Given the description of an element on the screen output the (x, y) to click on. 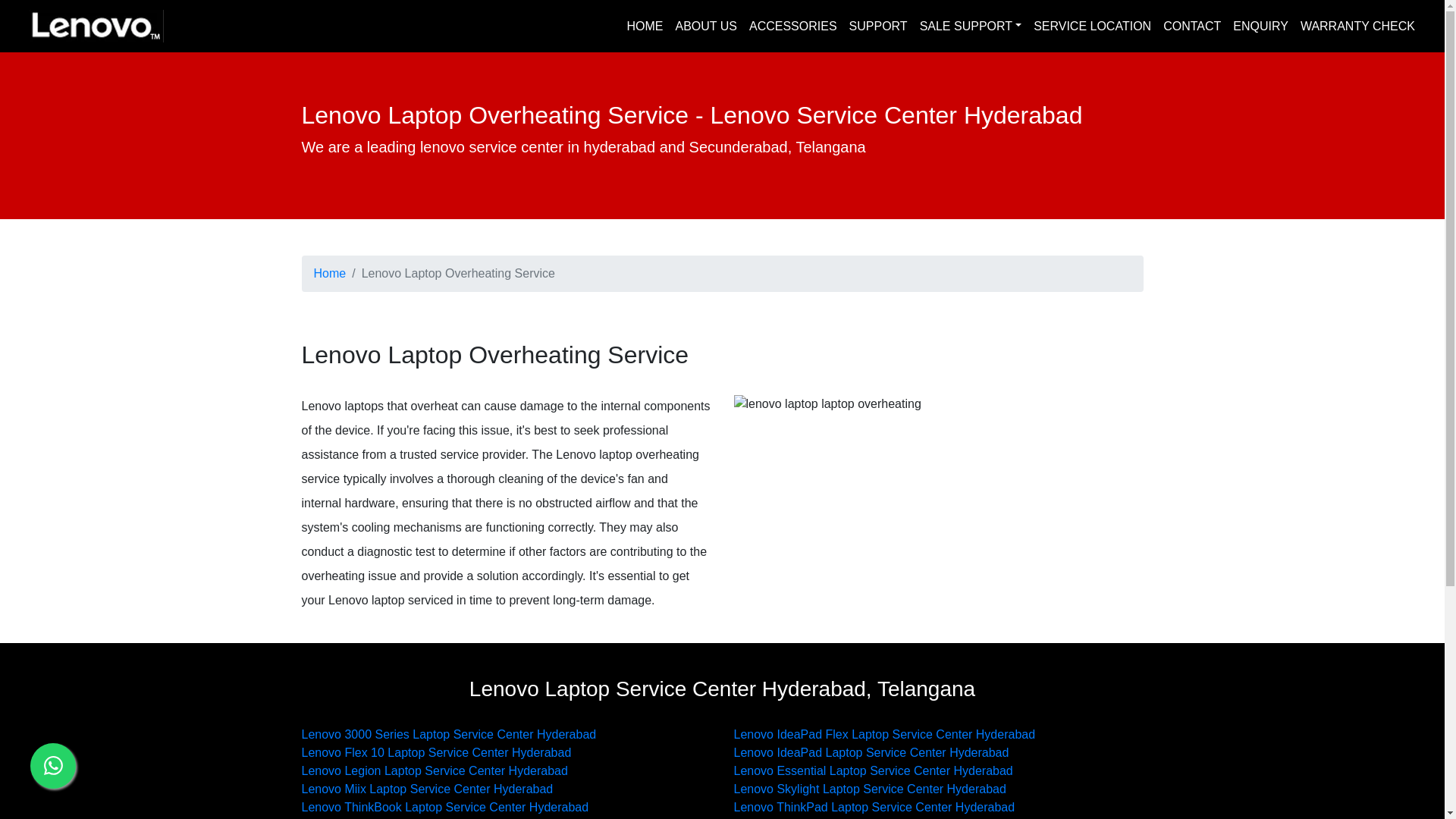
ENQUIRY (1260, 25)
Lenovo Skylight Laptop Service Center Hyderabad (869, 788)
Lenovo IdeaPad Flex Laptop Service Center Hyderabad (884, 734)
CONTACT (1192, 25)
Lenovo Legion Laptop Service Center Hyderabad (434, 770)
Home (330, 273)
SALE SUPPORT (970, 25)
ABOUT US (705, 25)
Lenovo ThinkBook Laptop Service Center Hyderabad (445, 807)
Lenovo ThinkPad Laptop Service Center Hyderabad (873, 807)
